Given the description of an element on the screen output the (x, y) to click on. 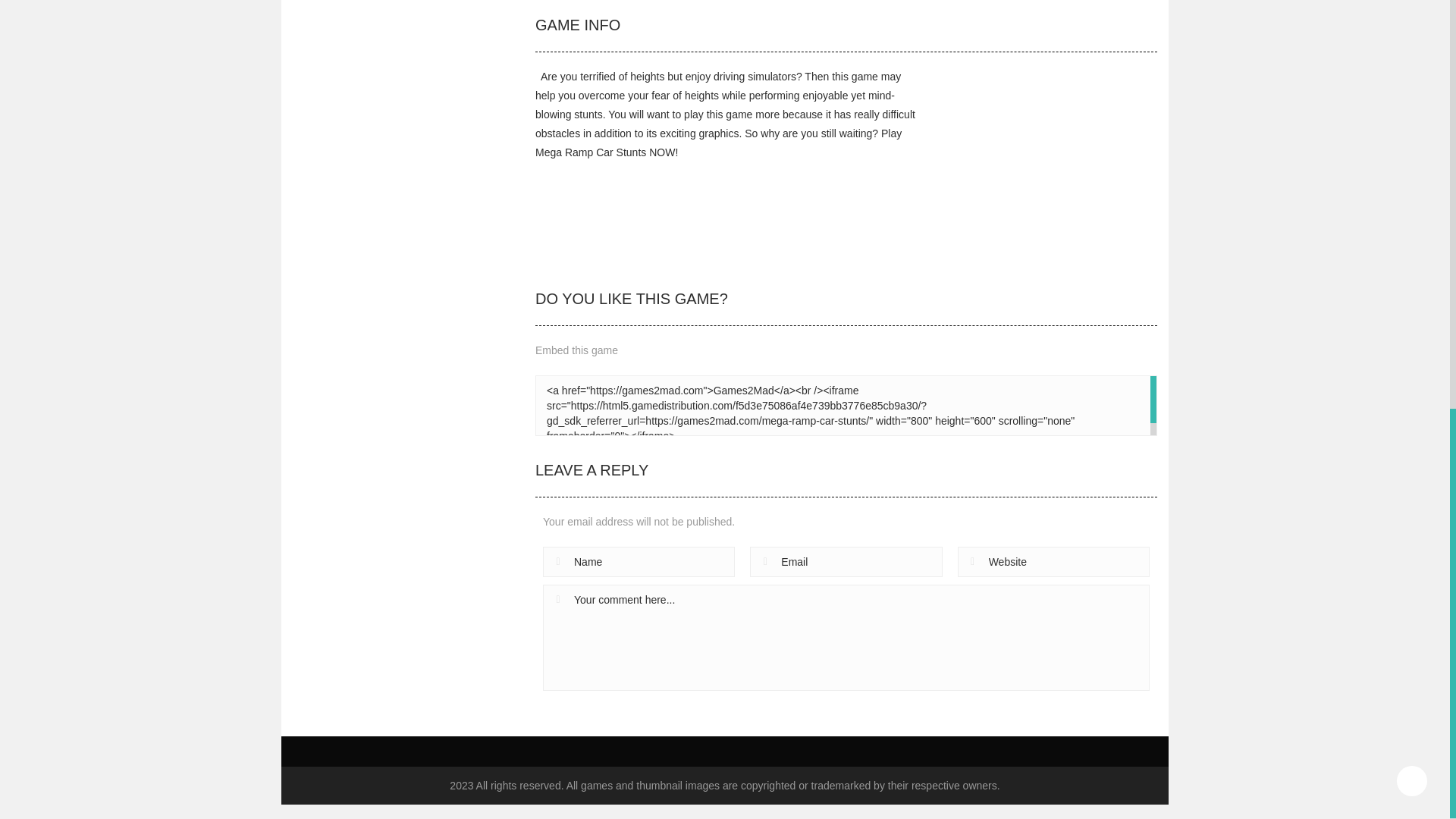
Post Comment (597, 706)
Post Comment (597, 706)
